Given the description of an element on the screen output the (x, y) to click on. 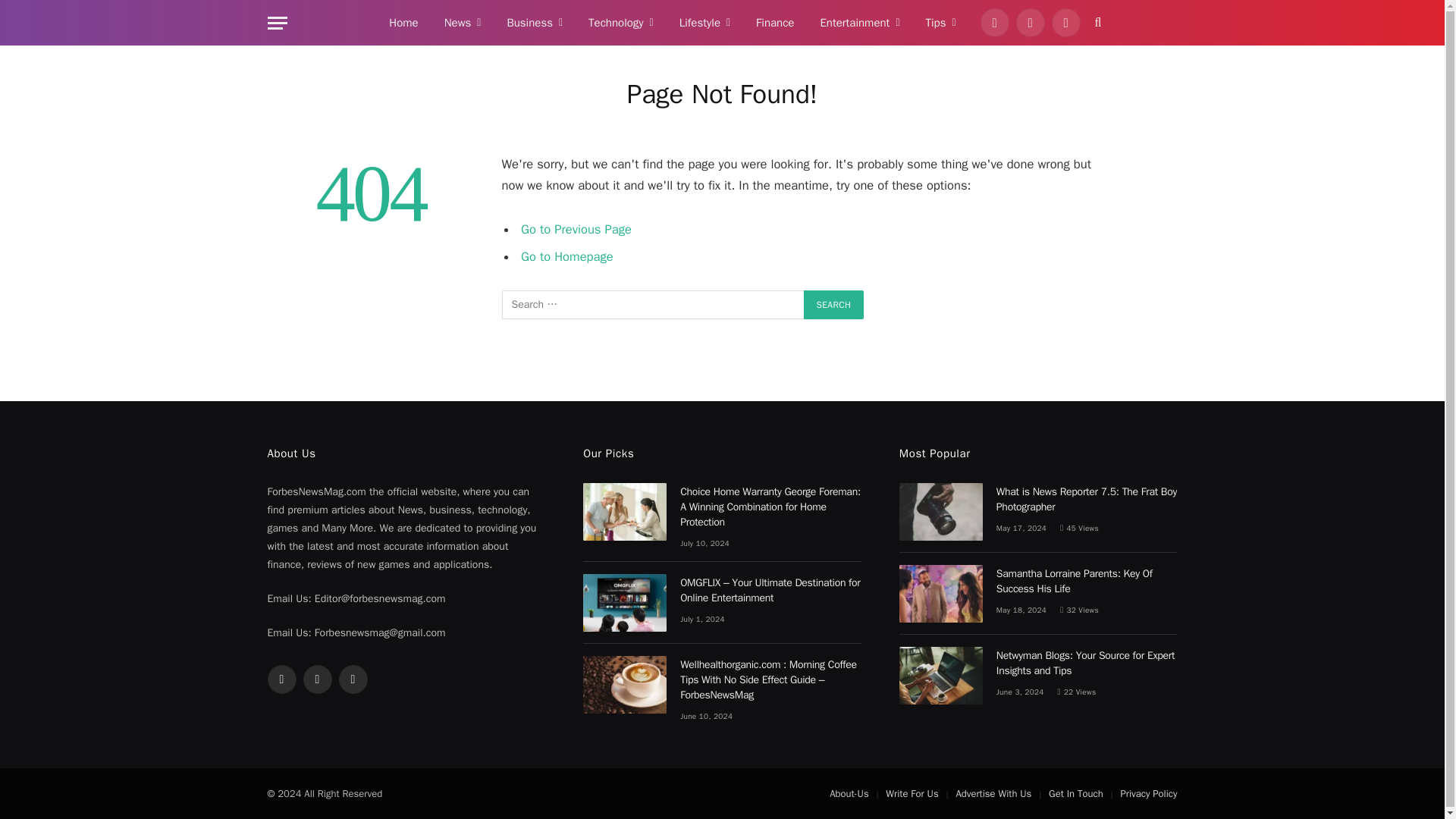
Home (402, 22)
Search (833, 304)
Business (534, 22)
Search (833, 304)
News (462, 22)
